Given the description of an element on the screen output the (x, y) to click on. 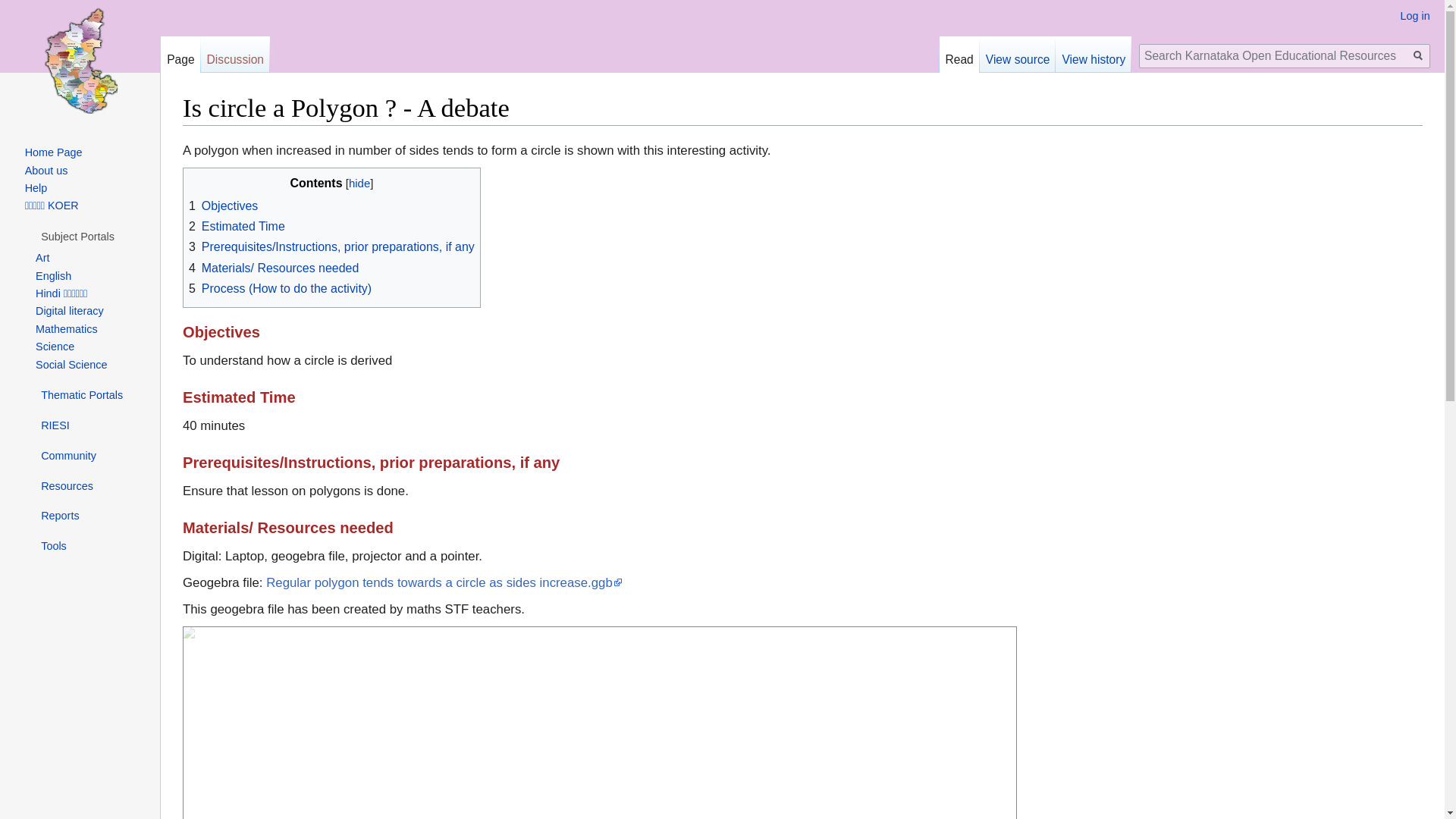
2 Estimated Time (237, 226)
Visit the main page (79, 60)
Mathematics (65, 328)
Log in (1414, 15)
Regular polygon tends towards a circle as sides increase.ggb (444, 582)
Science (54, 346)
Go (1418, 56)
English (52, 275)
Search (1418, 56)
Subject Portals (77, 236)
Page (180, 54)
Art (41, 257)
Home Page (53, 152)
Thematic Portals (81, 395)
